Given the description of an element on the screen output the (x, y) to click on. 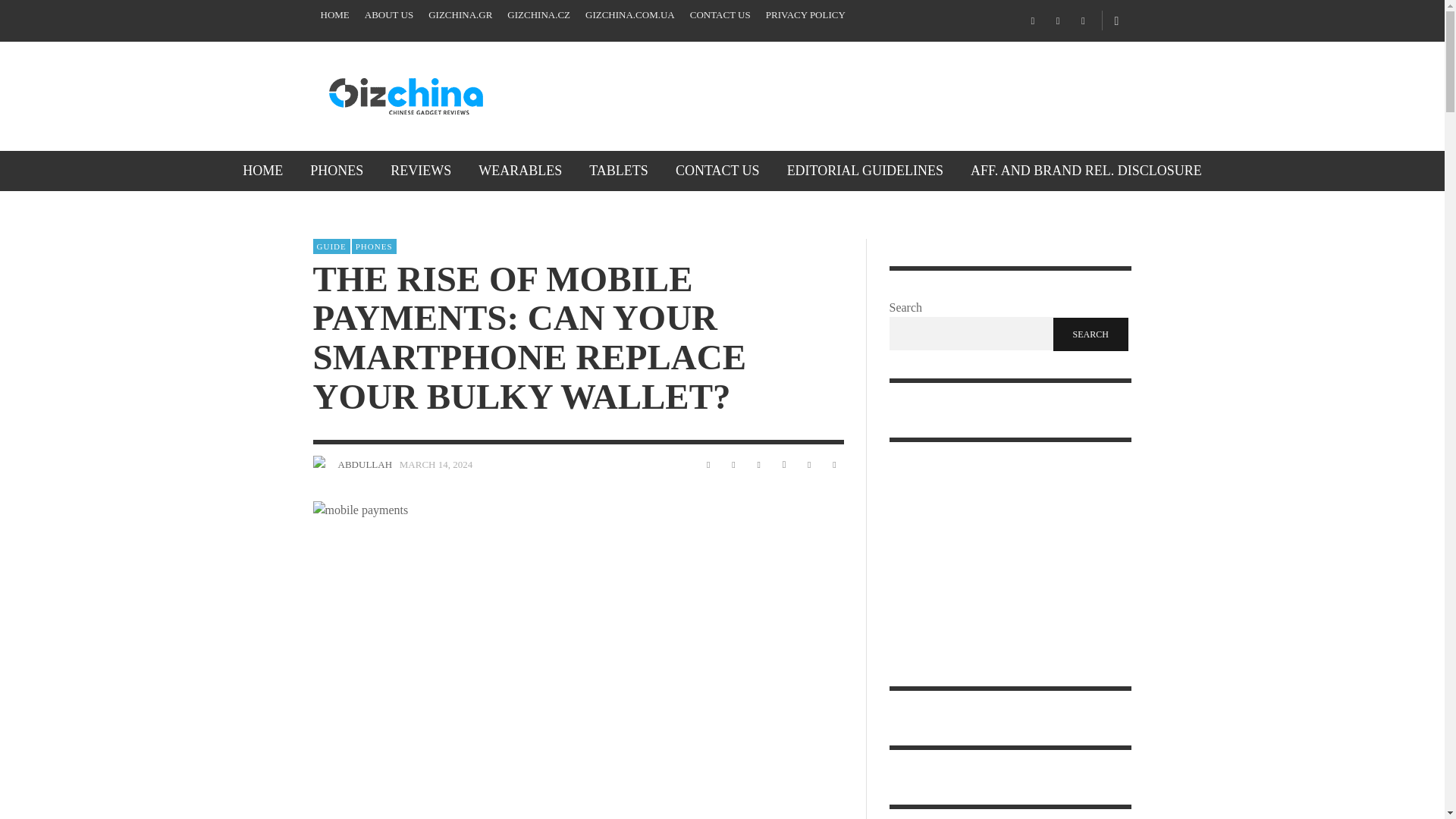
PHONES (337, 170)
GIZCHINA.CZ (538, 15)
REVIEWS (420, 170)
HOME (334, 15)
HOME (262, 170)
GIZCHINA.COM.UA (630, 15)
ABOUT US (388, 15)
GIZCHINA.GR (459, 15)
CONTACT US (720, 15)
PRIVACY POLICY (805, 15)
